Given the description of an element on the screen output the (x, y) to click on. 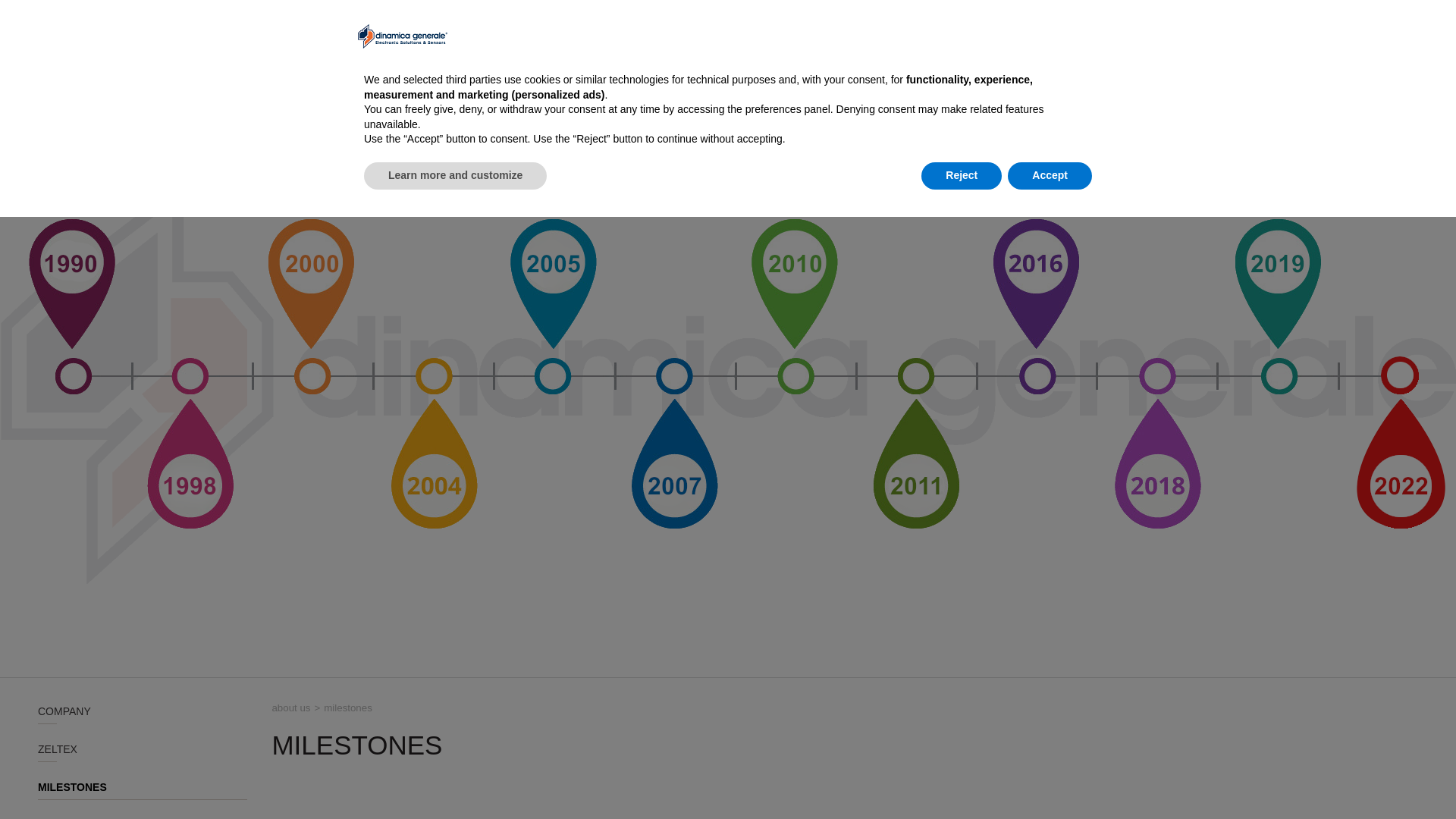
DOWNLOAD (1025, 18)
MY SOFTWARE (1102, 18)
SOLUTIONS (901, 51)
PRECISION FARMING (800, 51)
PRODUCTS (977, 51)
DinamicaGenerale.com (140, 35)
